Given the description of an element on the screen output the (x, y) to click on. 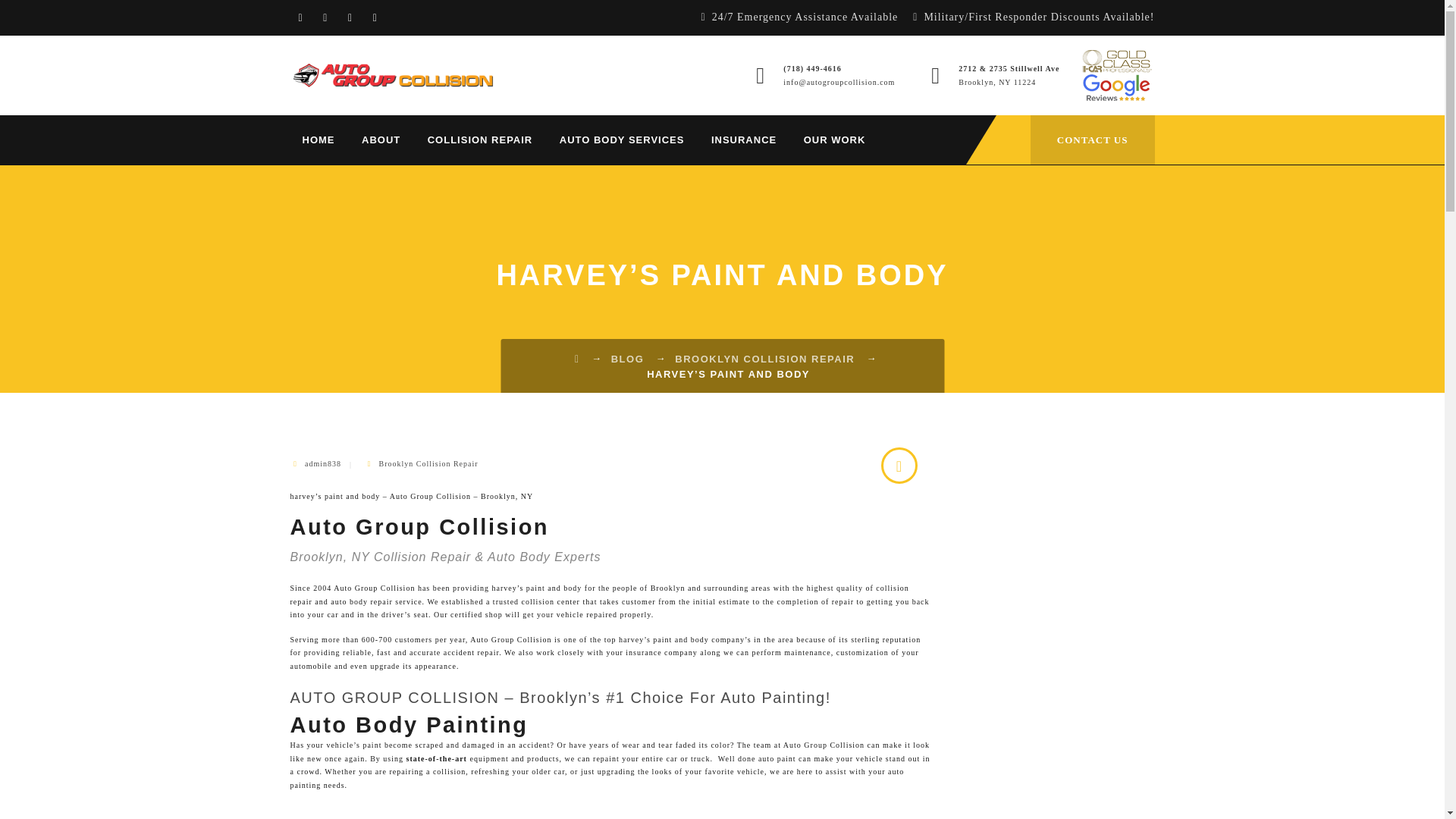
OUR WORK (834, 139)
AUTO BODY SERVICES (621, 139)
BROOKLYN COLLISION REPAIR (764, 358)
INSURANCE (743, 139)
Go to Blog. (628, 358)
COLLISION REPAIR (480, 139)
CONTACT US (1092, 139)
Brooklyn Collision Repair (428, 463)
Auto Group Collision (392, 75)
Go to the Brooklyn Collision Repair Category archives. (764, 358)
BLOG (628, 358)
admin838 (322, 463)
